Given the description of an element on the screen output the (x, y) to click on. 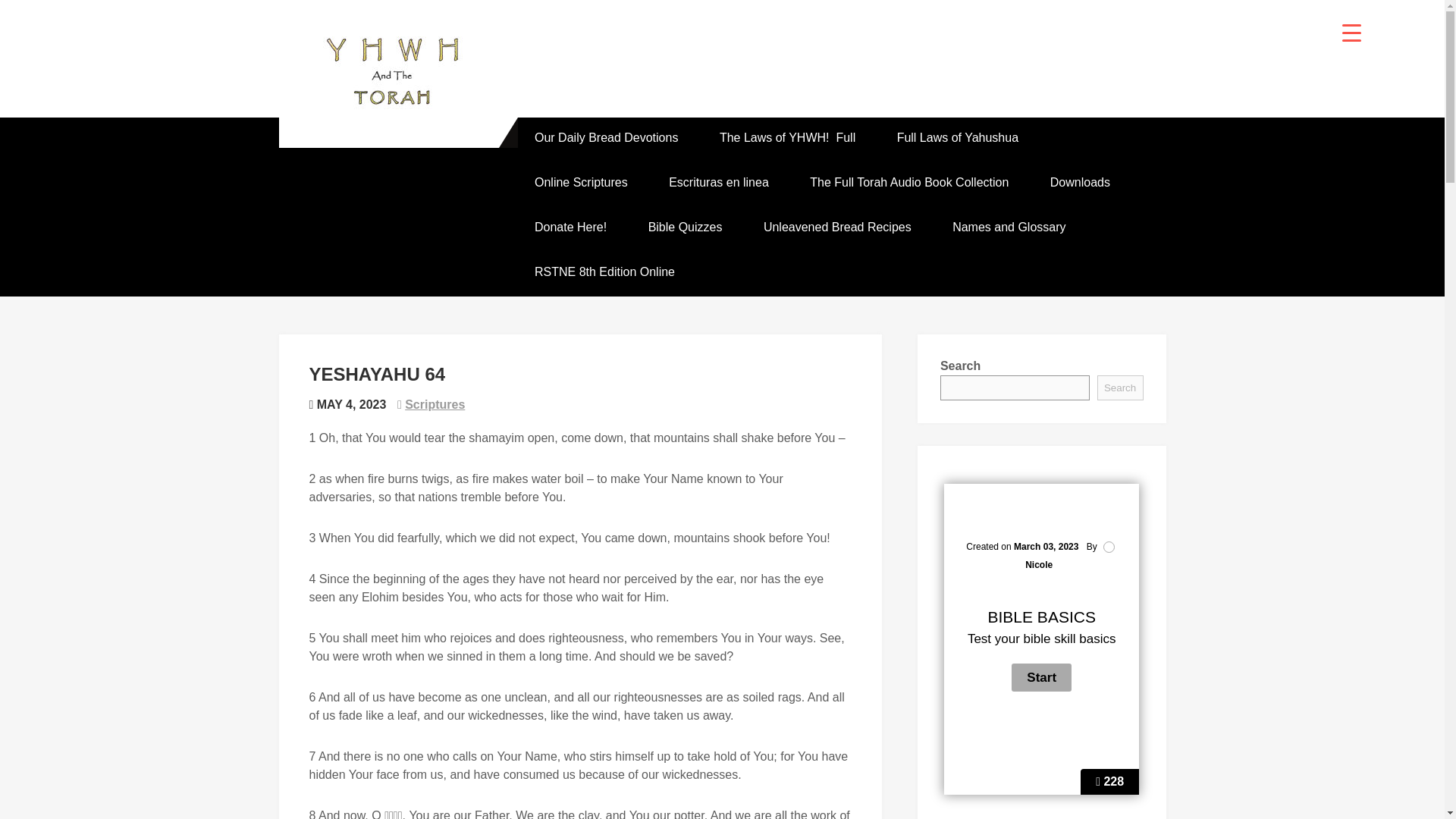
Start (1041, 677)
